Given the description of an element on the screen output the (x, y) to click on. 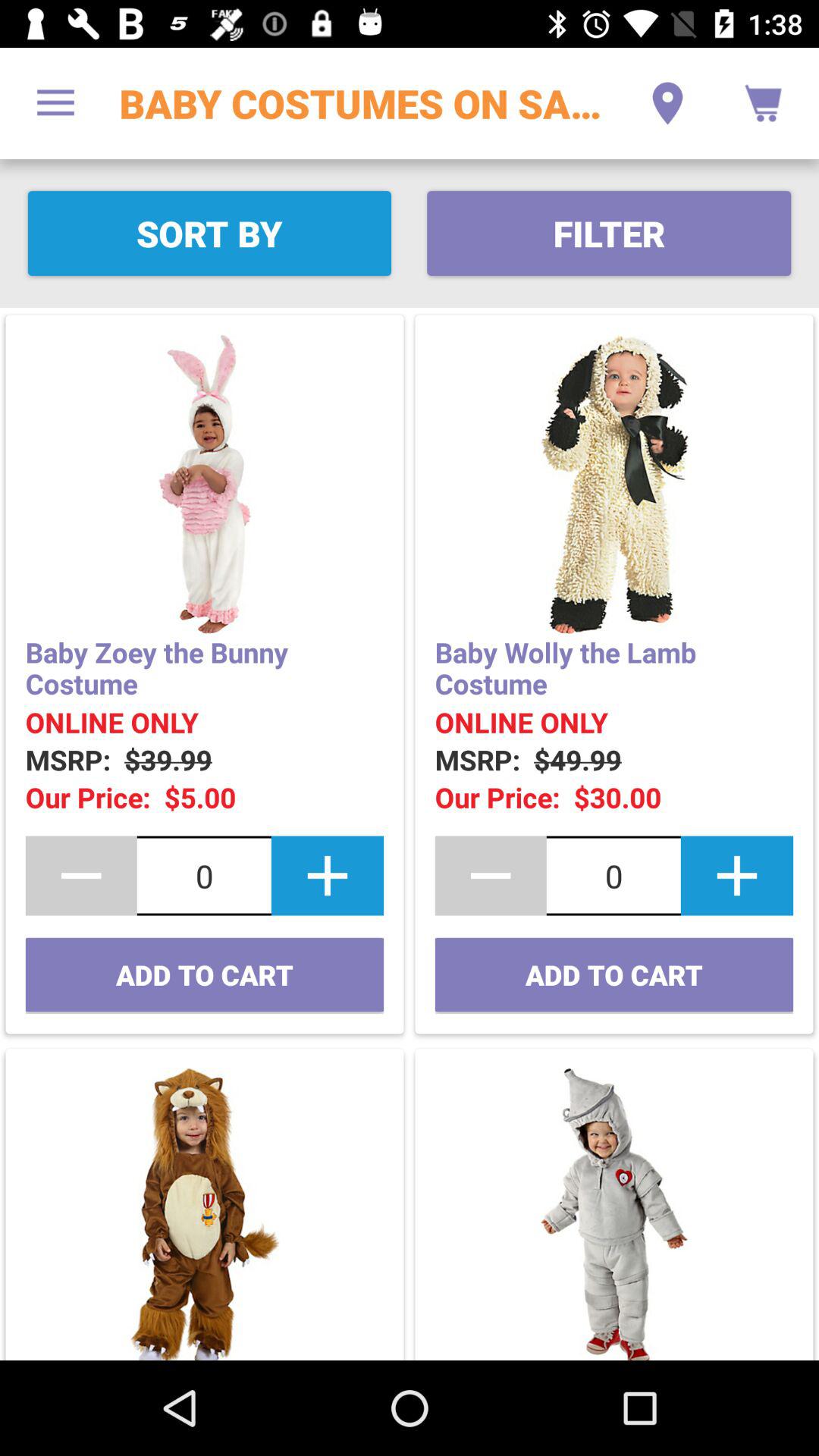
turn off the item next to sort by (609, 233)
